Given the description of an element on the screen output the (x, y) to click on. 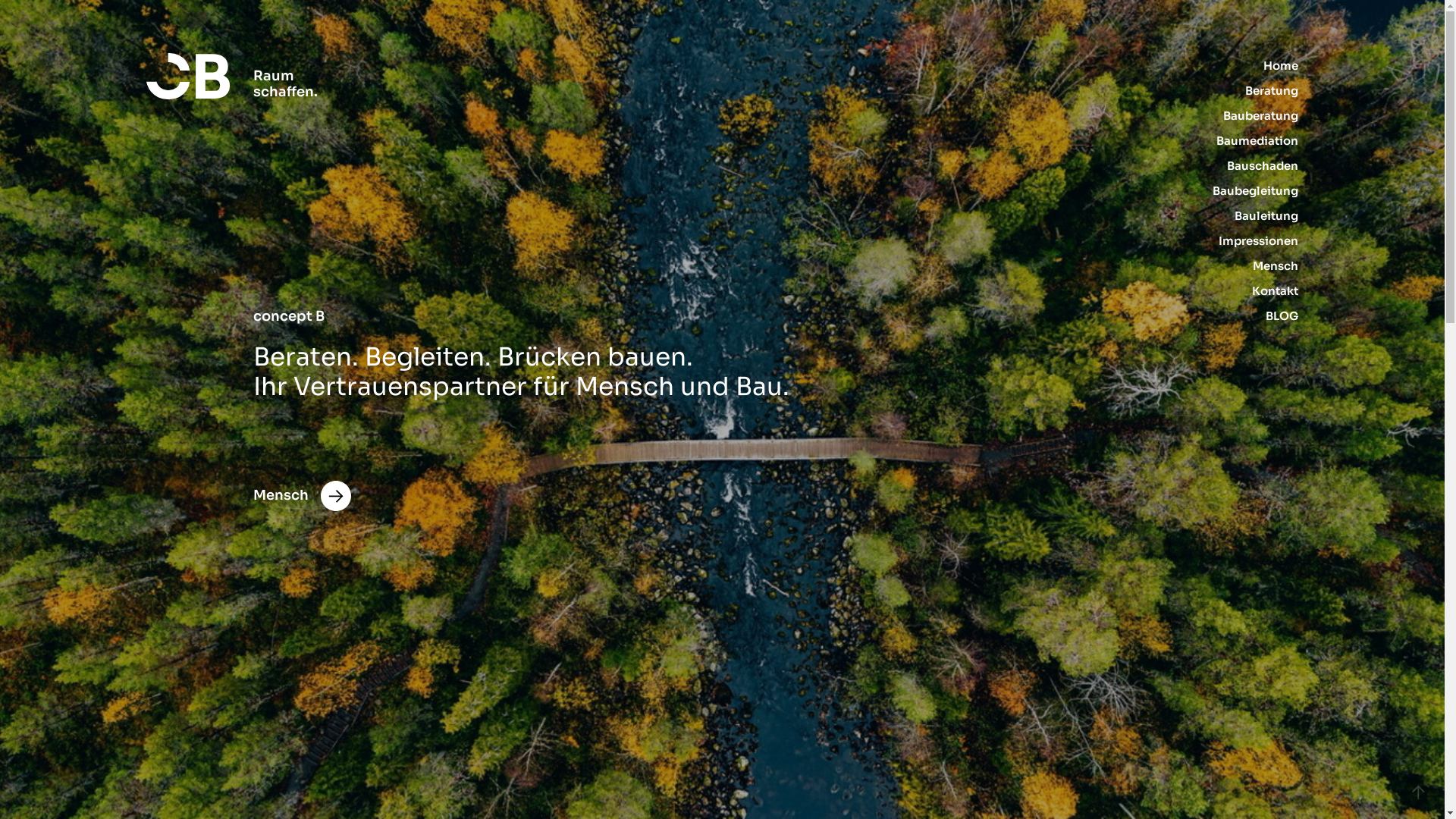
Bauleitung Element type: text (1266, 215)
Bauberatung Element type: text (1260, 115)
Baubegleitung Element type: text (1255, 190)
Mensch Element type: text (1275, 265)
Impressionen Element type: text (1258, 240)
BLOG Element type: text (1281, 315)
Mensch Element type: text (302, 495)
Home Element type: text (1280, 65)
Baumediation Element type: text (1257, 140)
Kontakt Element type: text (1275, 290)
Bauschaden Element type: text (1262, 165)
Beratung Element type: text (1271, 90)
